Given the description of an element on the screen output the (x, y) to click on. 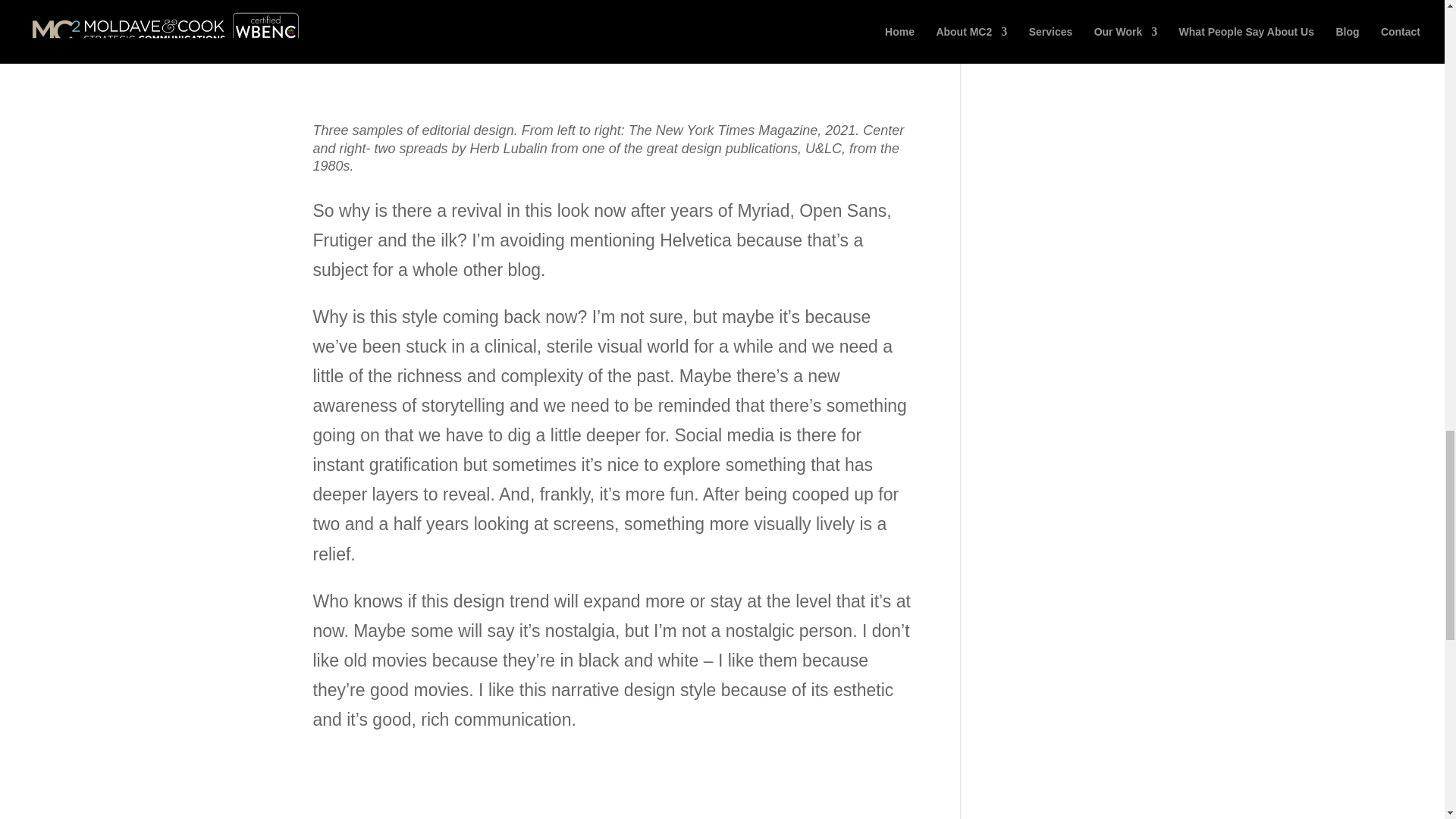
Moldave-cook-lubalin2 (613, 50)
Moldave-cook-NY-times (402, 42)
Moldave-cook-lubalin1 (825, 49)
